Given the description of an element on the screen output the (x, y) to click on. 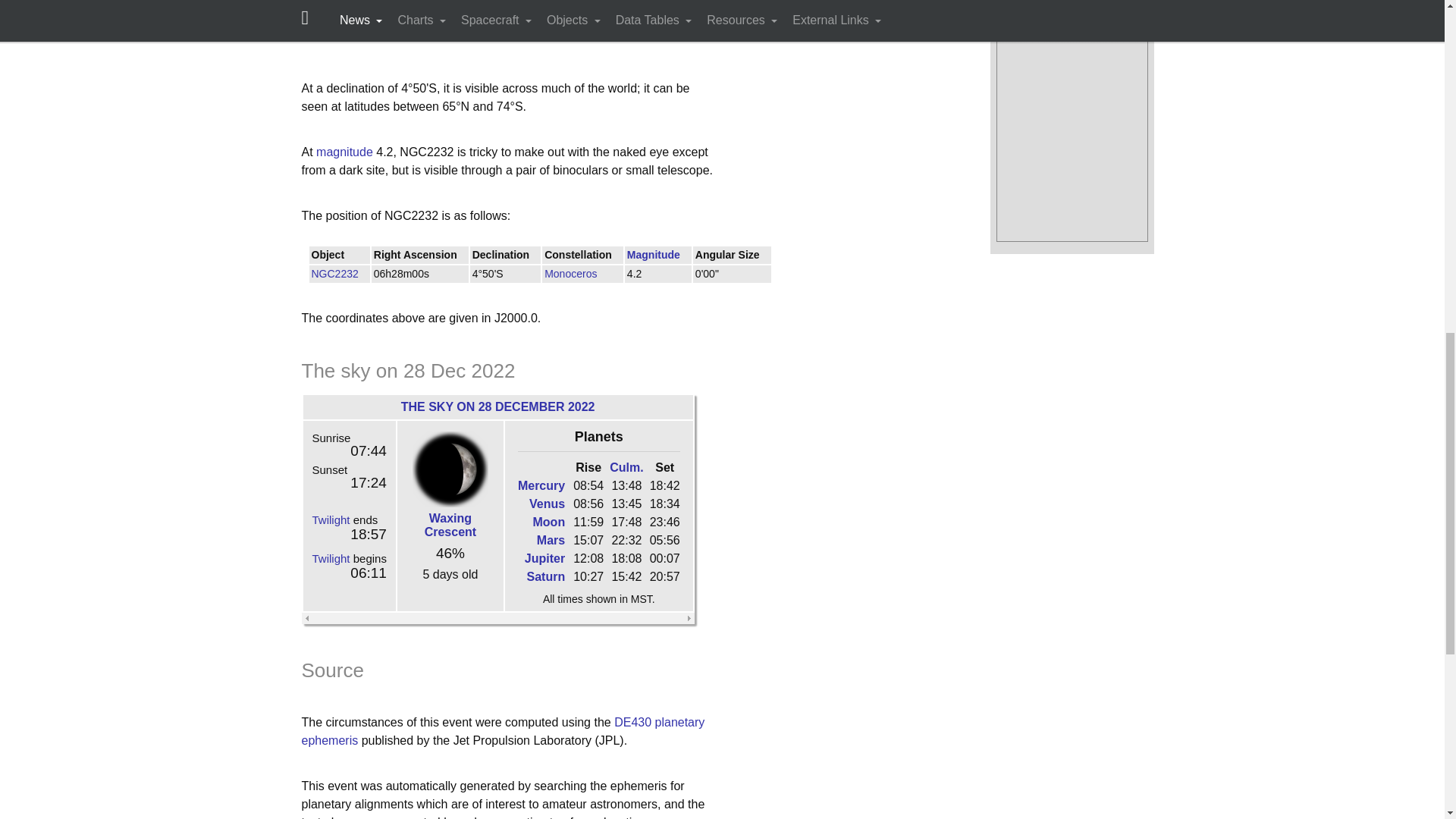
5-day old moon (450, 468)
Advertisement (639, 33)
